Given the description of an element on the screen output the (x, y) to click on. 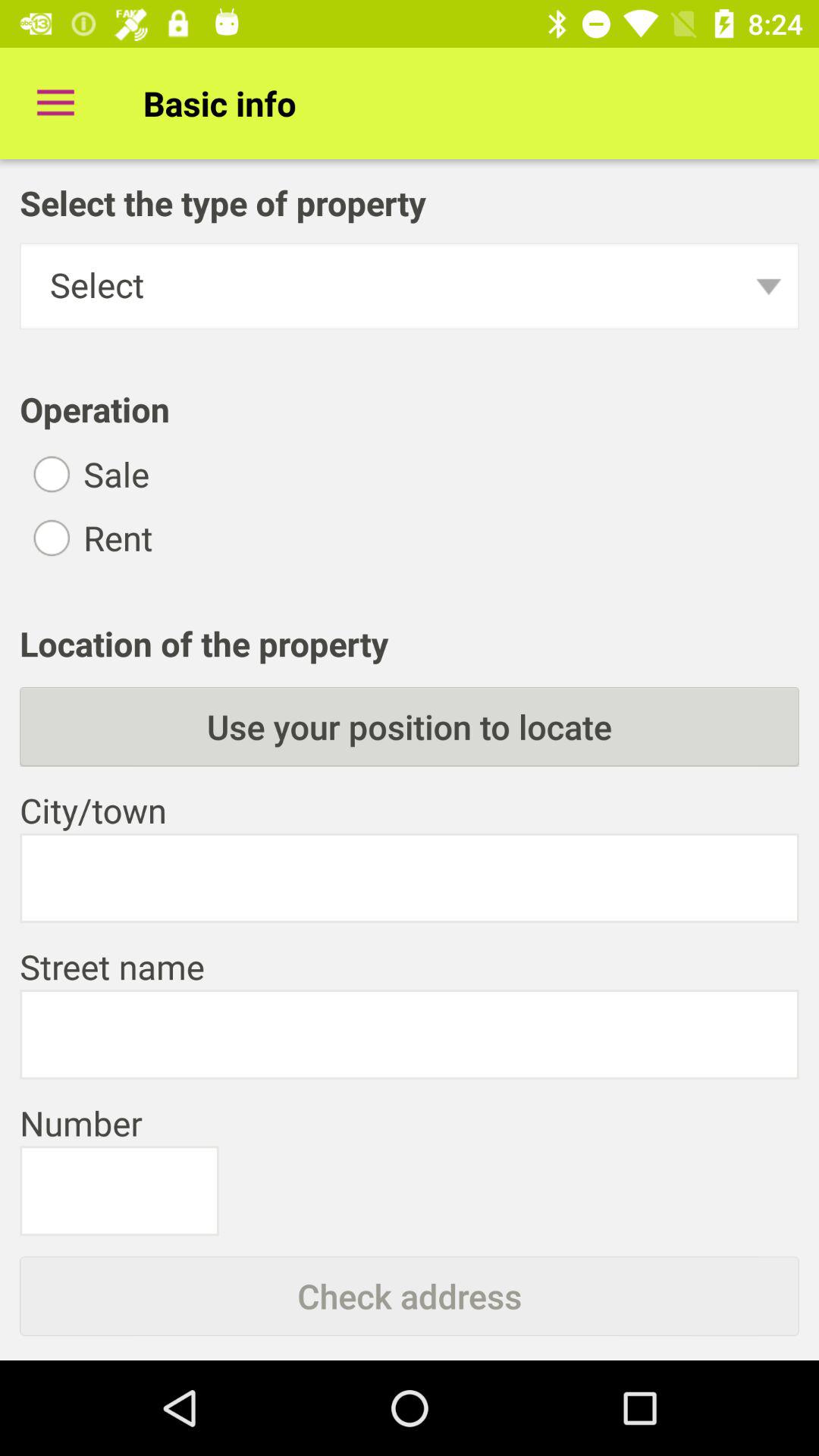
numbers (118, 1190)
